Given the description of an element on the screen output the (x, y) to click on. 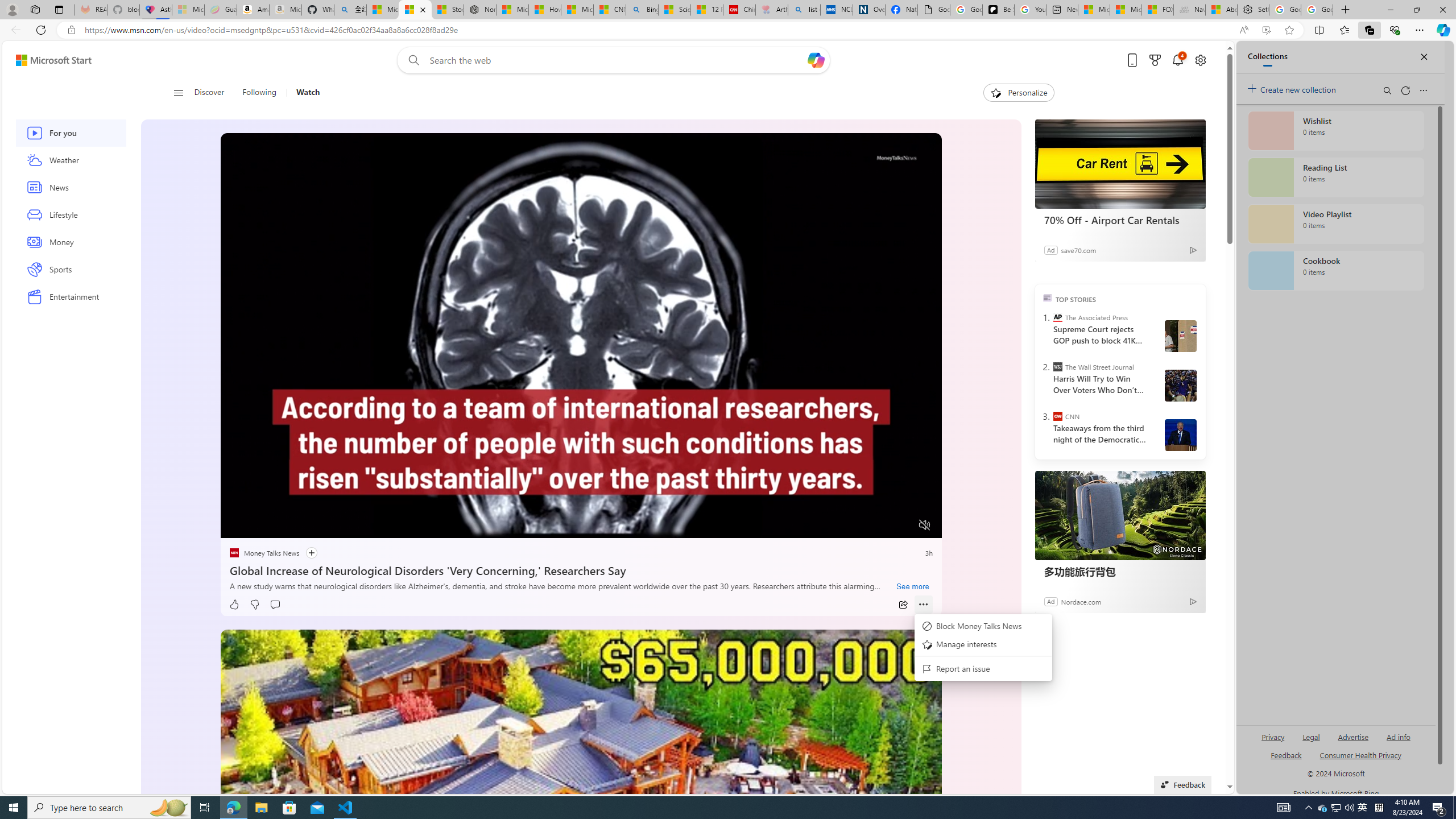
Block Money Talks News menu item (983, 625)
Fullscreen (902, 525)
Manage interests menu item (983, 644)
